Given the description of an element on the screen output the (x, y) to click on. 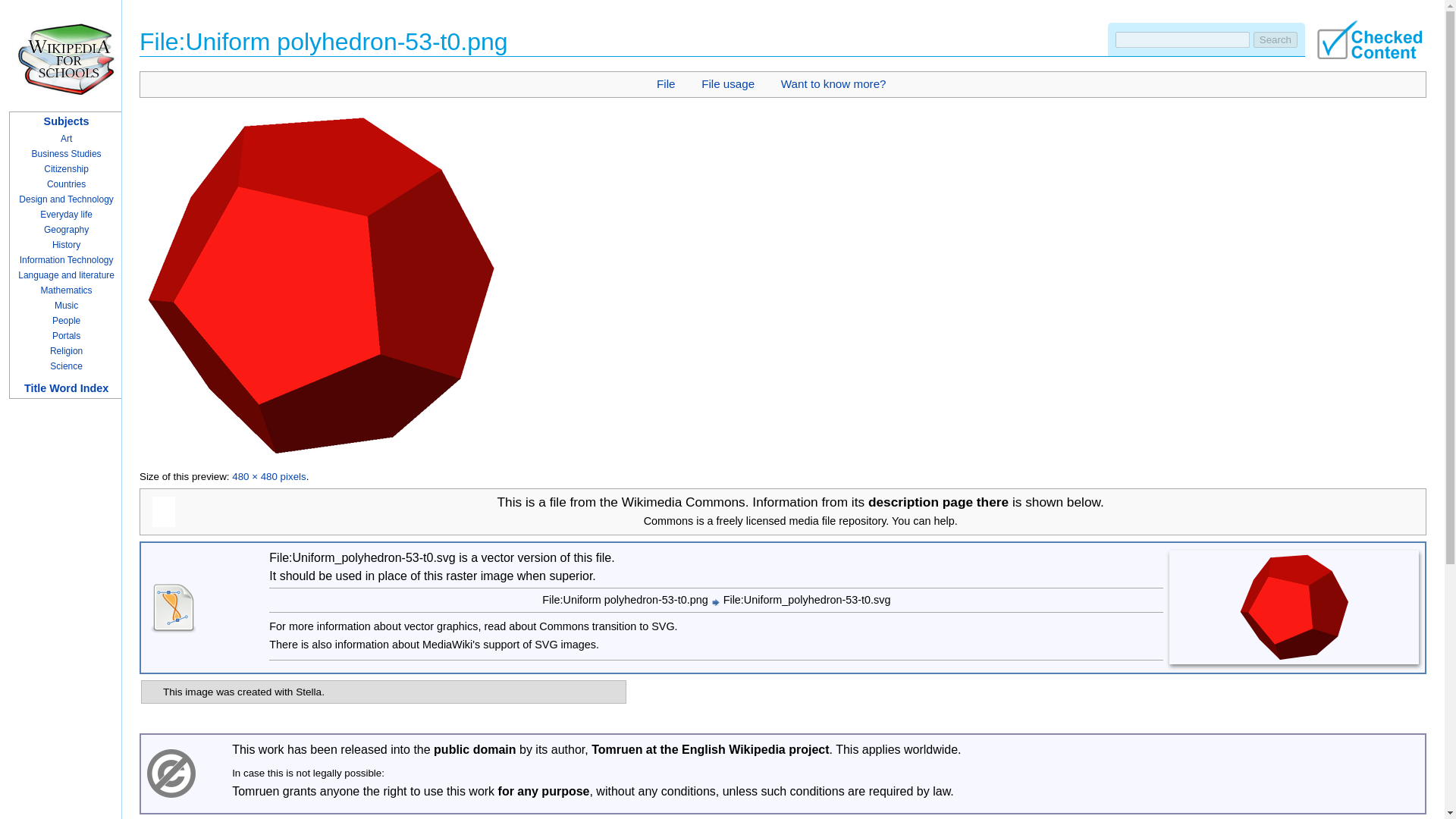
Mathematics (66, 290)
Everyday life (66, 214)
Search (1275, 39)
Music (66, 305)
Language and literature (66, 275)
Portals (66, 335)
People (66, 320)
File (665, 83)
Information Technology (66, 259)
Business Studies (66, 153)
Countries (65, 184)
Title Word Index (65, 387)
Design and Technology (65, 199)
Search (1275, 39)
Subjects (65, 121)
